Given the description of an element on the screen output the (x, y) to click on. 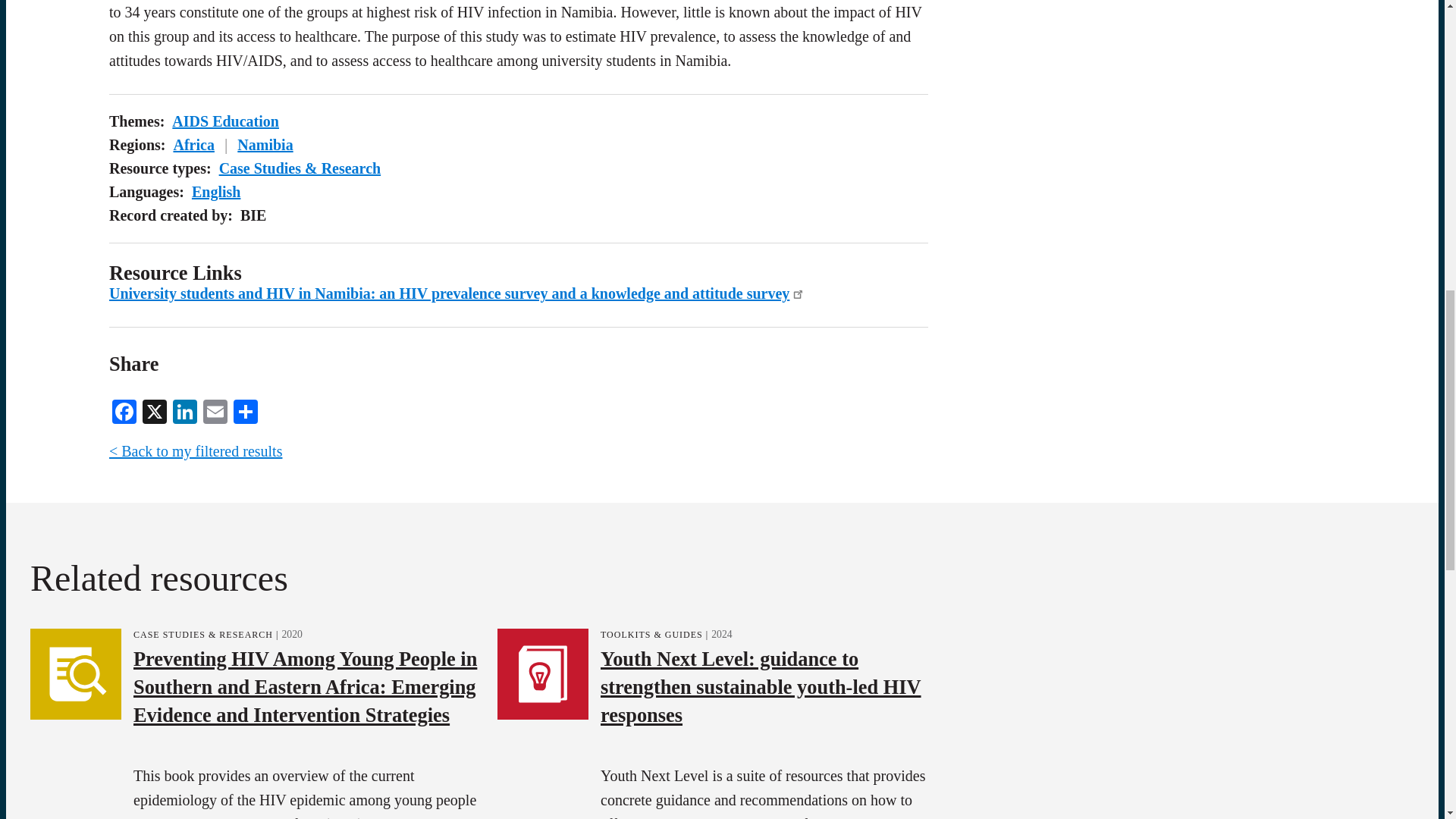
X (154, 410)
Facebook (124, 410)
LinkedIn (185, 410)
Email (215, 410)
Africa (193, 144)
AIDS Education (225, 121)
Namibia (264, 144)
English (216, 191)
